Given the description of an element on the screen output the (x, y) to click on. 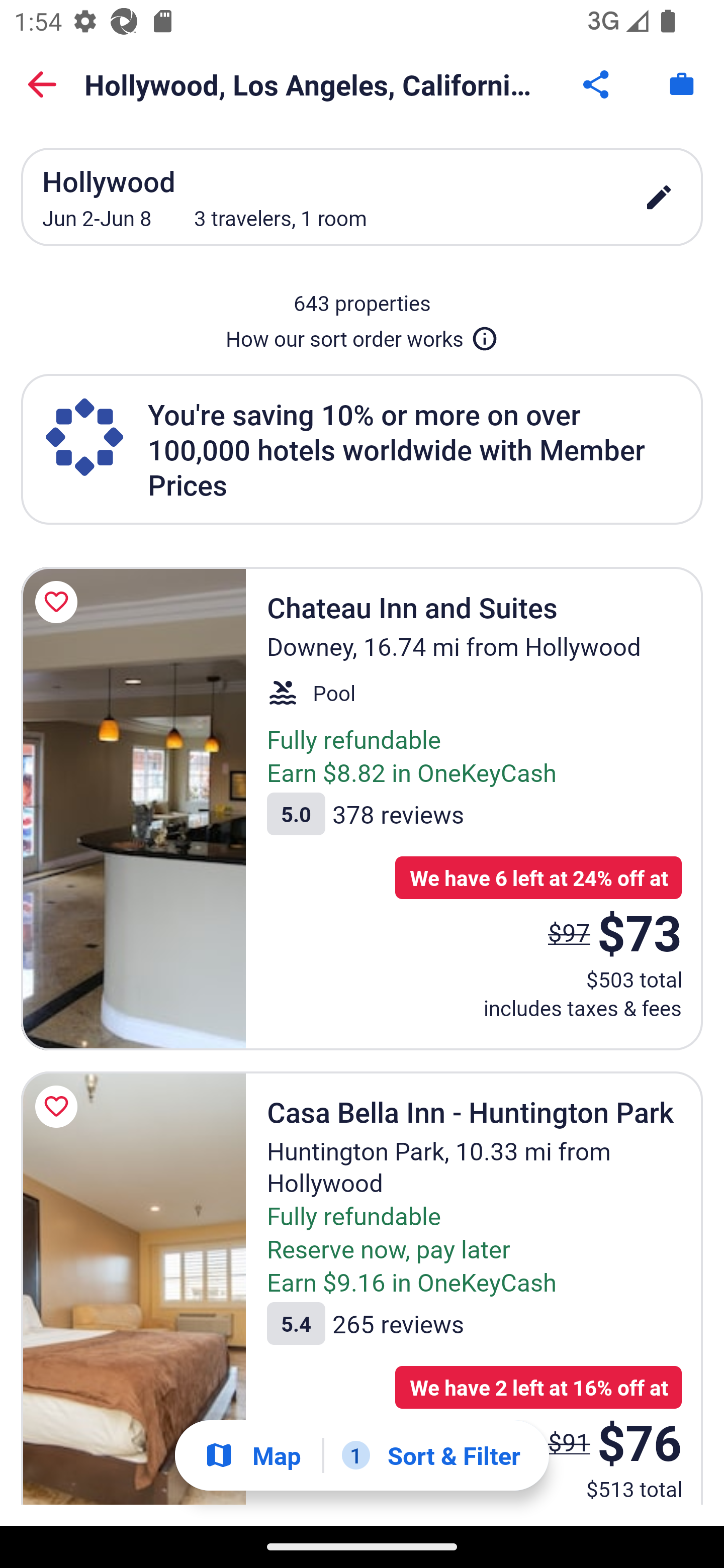
Back (42, 84)
Share Button (597, 84)
Trips. Button (681, 84)
Hollywood Jun 2-Jun 8 3 travelers, 1 room edit (361, 196)
How our sort order works (361, 334)
Save Chateau Inn and Suites to a trip (59, 601)
Chateau Inn and Suites (133, 808)
$97 The price was $97 (569, 931)
Save Casa Bella Inn - Huntington Park to a trip (59, 1106)
Casa Bella Inn - Huntington Park (133, 1287)
1 Sort & Filter 1 Filter applied. Filters Button (430, 1455)
Show map Map Show map Button (252, 1455)
